Given the description of an element on the screen output the (x, y) to click on. 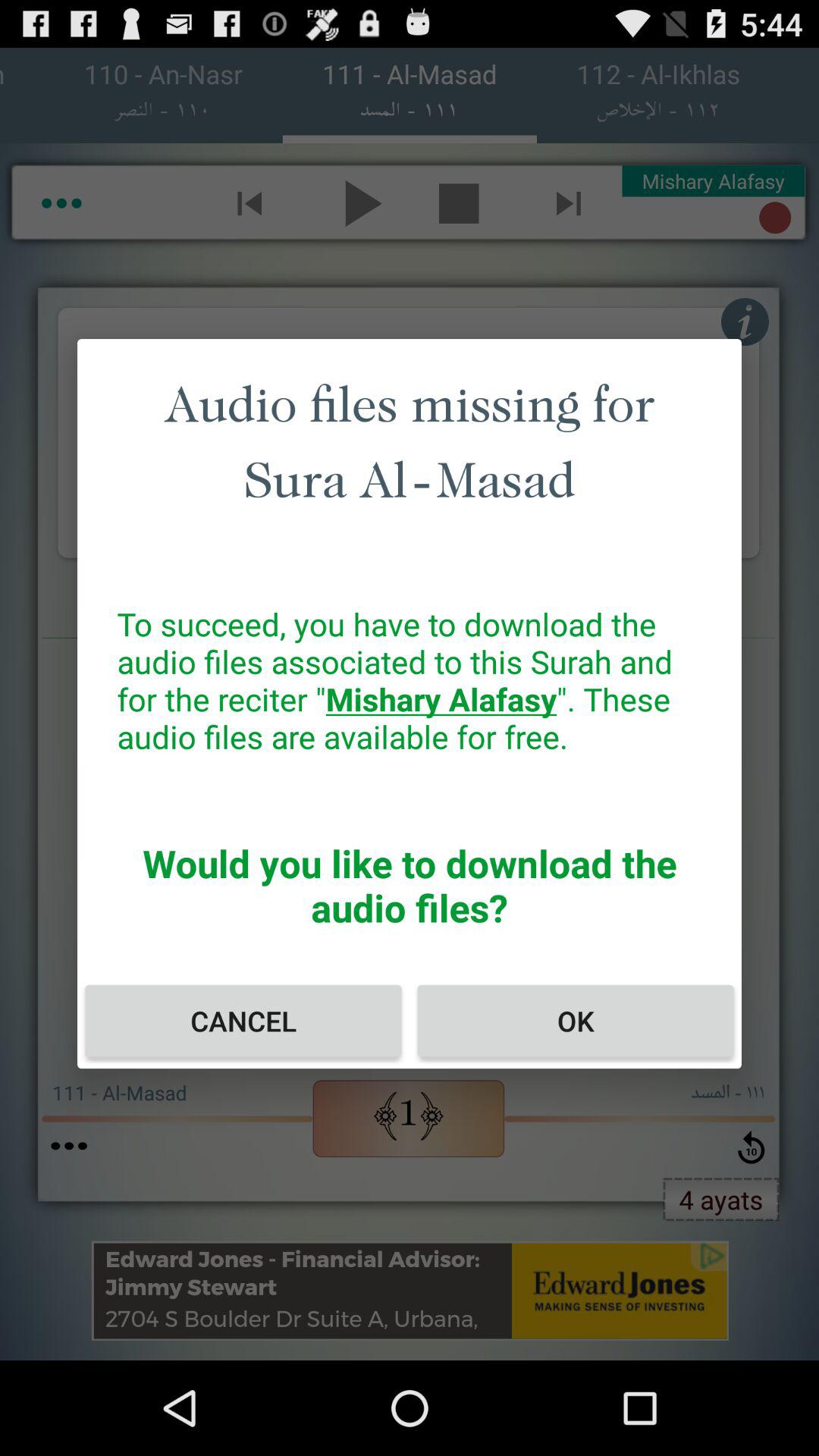
turn off the icon to the left of ok icon (243, 1020)
